Given the description of an element on the screen output the (x, y) to click on. 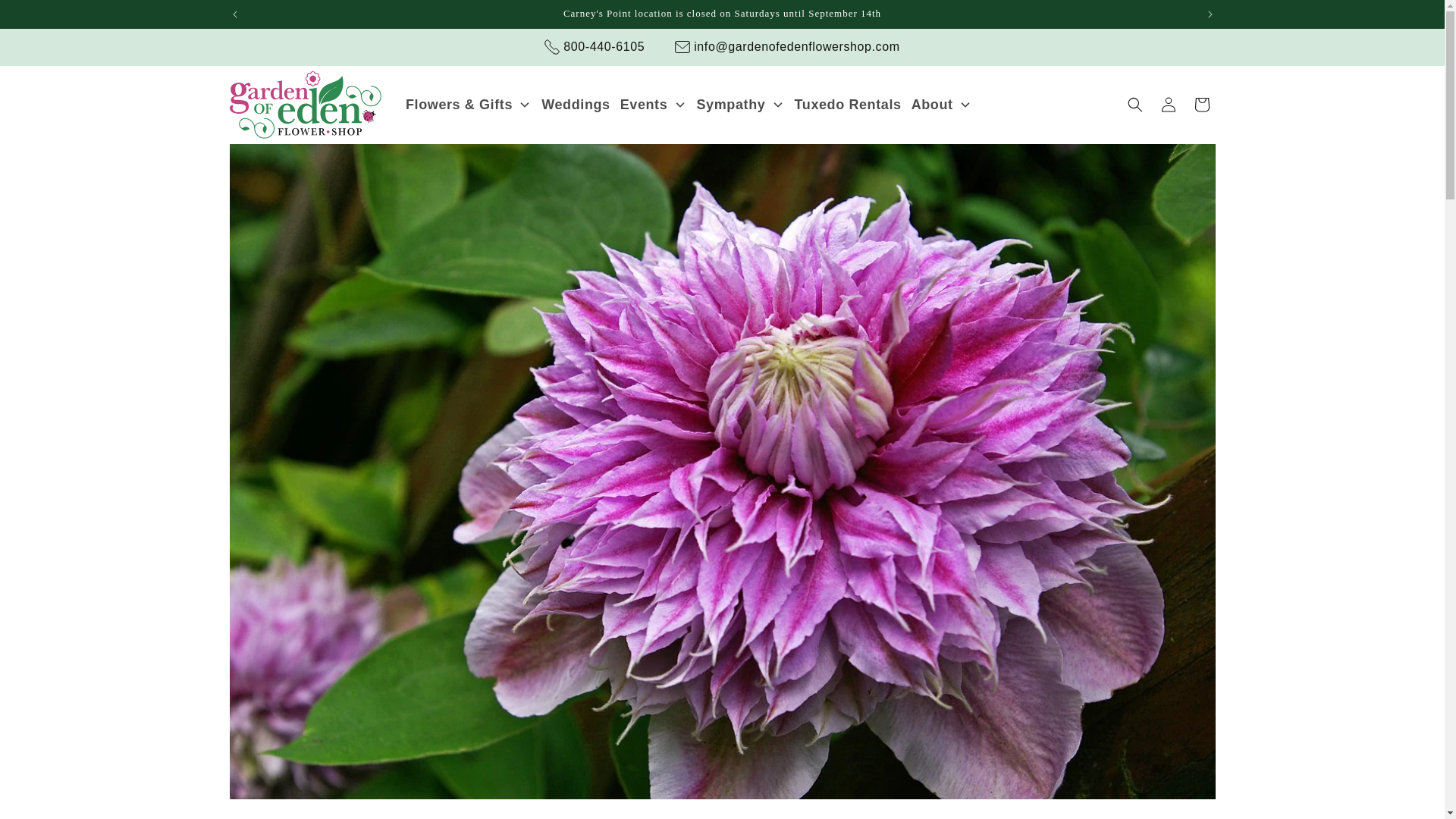
Skip to content (45, 17)
800-440-6105 (594, 47)
